Given the description of an element on the screen output the (x, y) to click on. 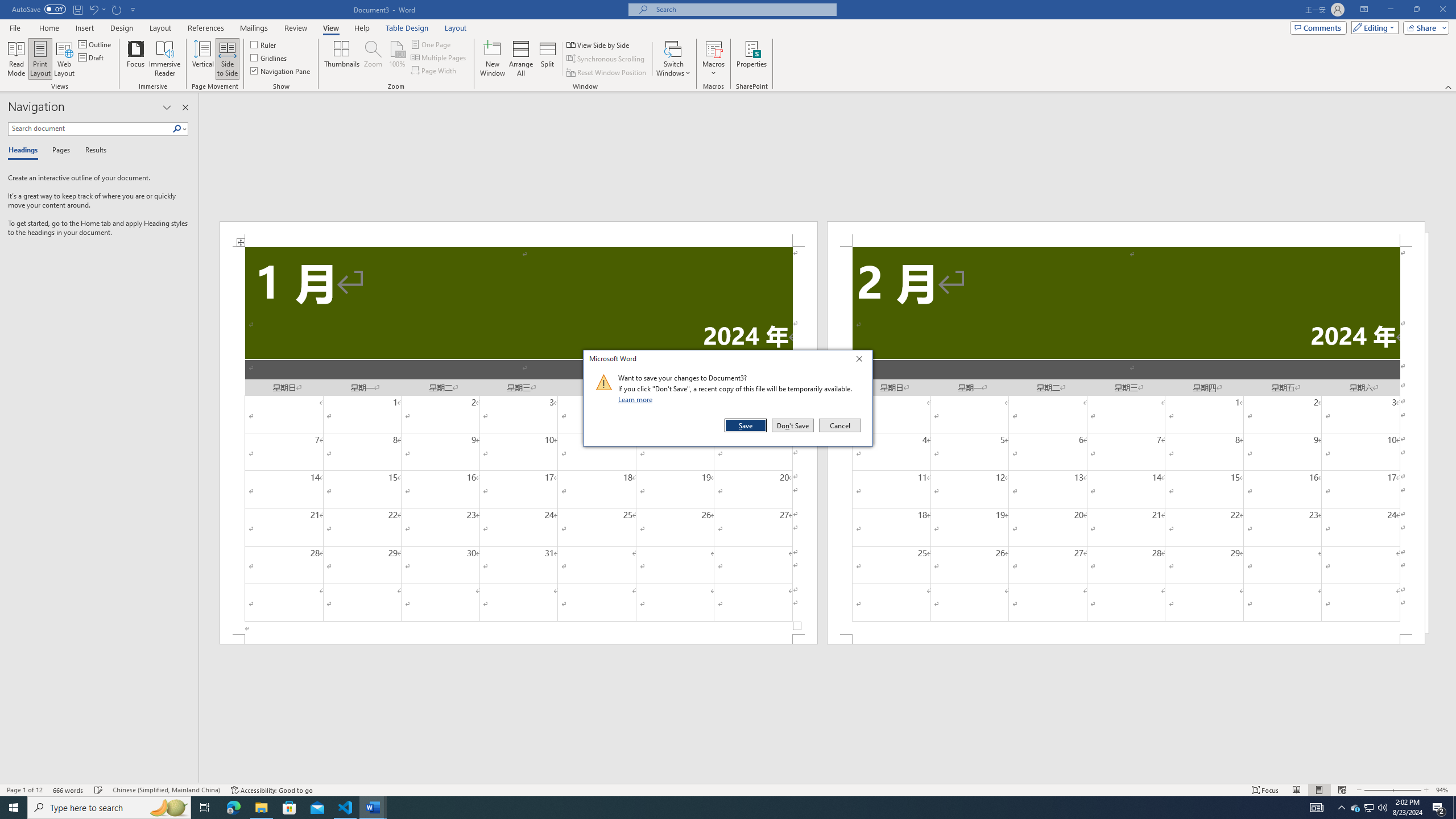
Multiple Pages (439, 56)
Ruler (263, 44)
Footer -Section 2- (1126, 638)
